Given the description of an element on the screen output the (x, y) to click on. 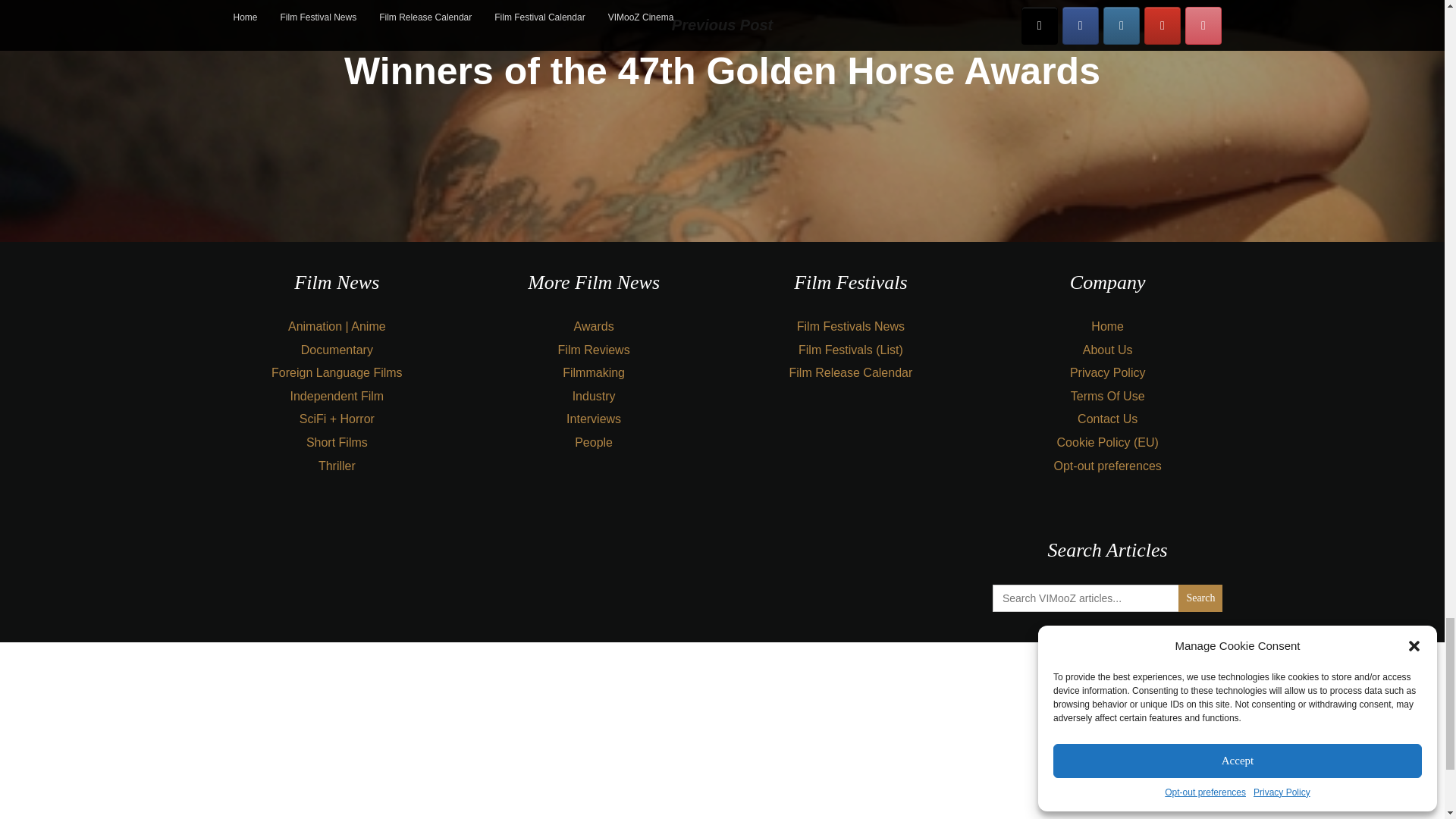
Search (1200, 597)
Search (1200, 597)
